Given the description of an element on the screen output the (x, y) to click on. 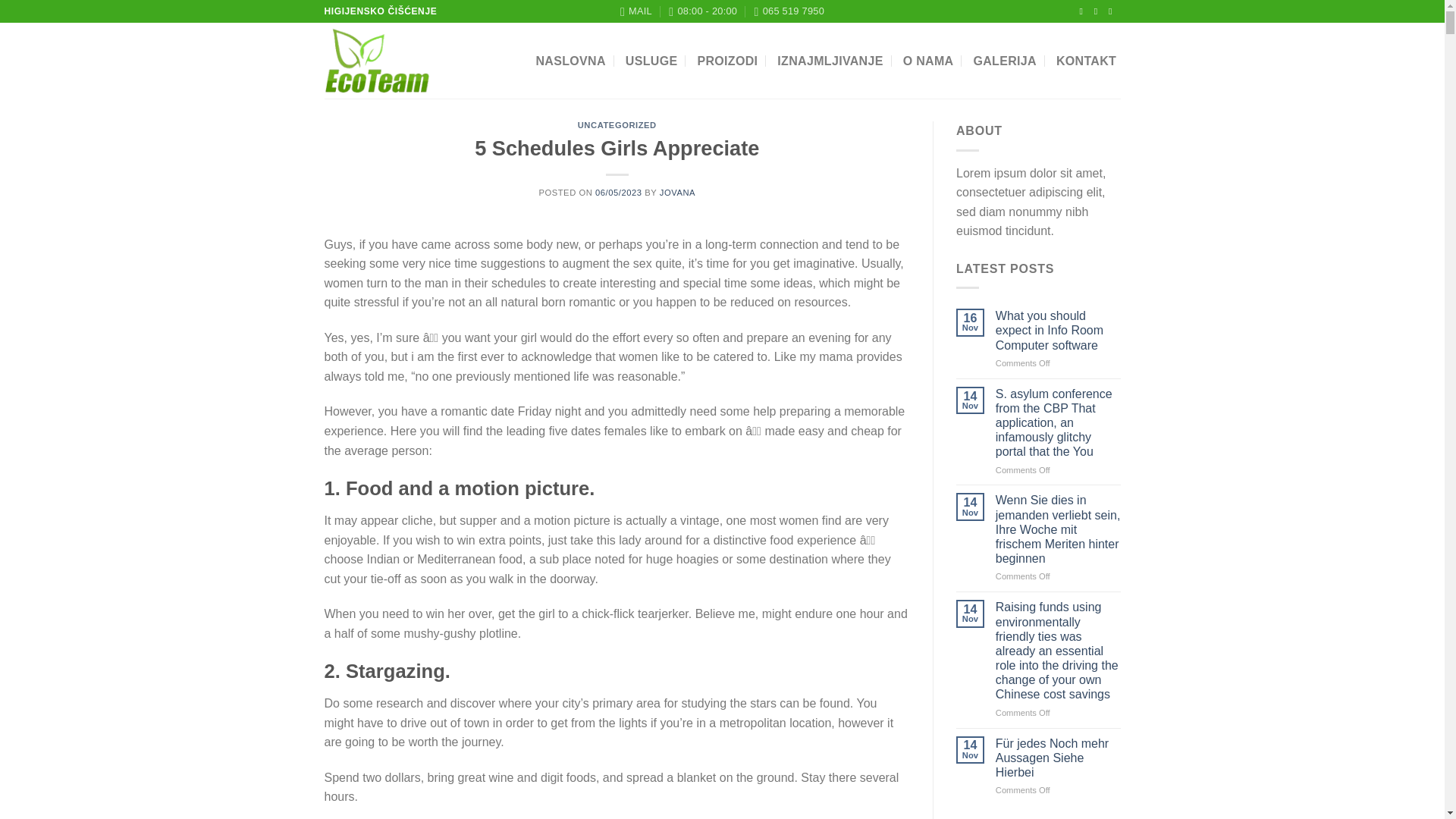
What you should expect in Info Room Computer software (1058, 330)
065 519 7950 (789, 11)
NASLOVNA (570, 61)
065 519 7950 (789, 11)
GALERIJA (1003, 61)
08:00 - 20:00 (702, 11)
O NAMA (927, 61)
PROIZODI (727, 61)
